Given the description of an element on the screen output the (x, y) to click on. 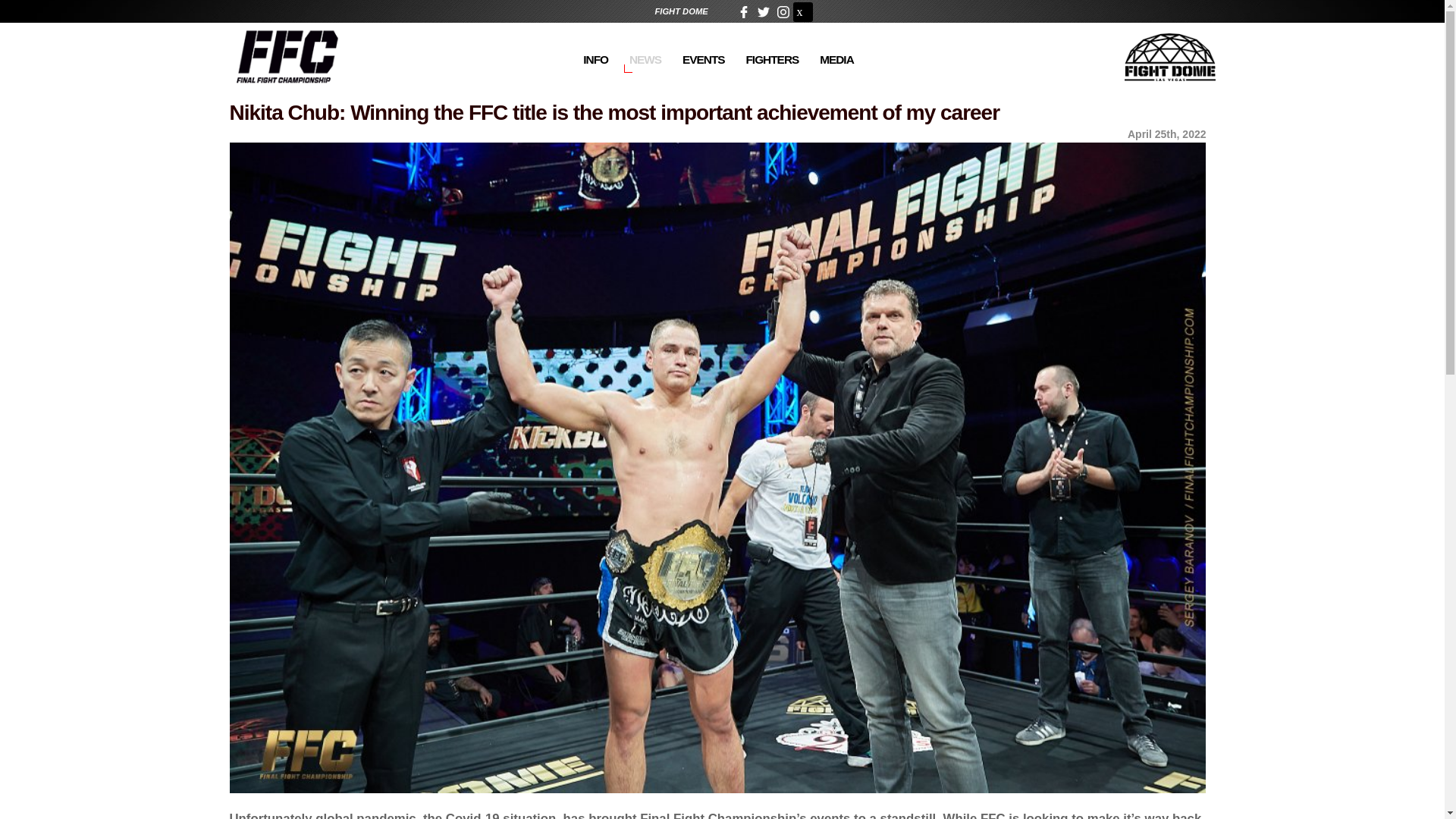
FIGHT DOME (680, 11)
FIGHTERS (772, 46)
EVENTS (703, 46)
MEDIA (836, 46)
INFO (595, 46)
NEWS (644, 46)
FINAL FIGHT CHAMPIONSHIP (285, 56)
